Given the description of an element on the screen output the (x, y) to click on. 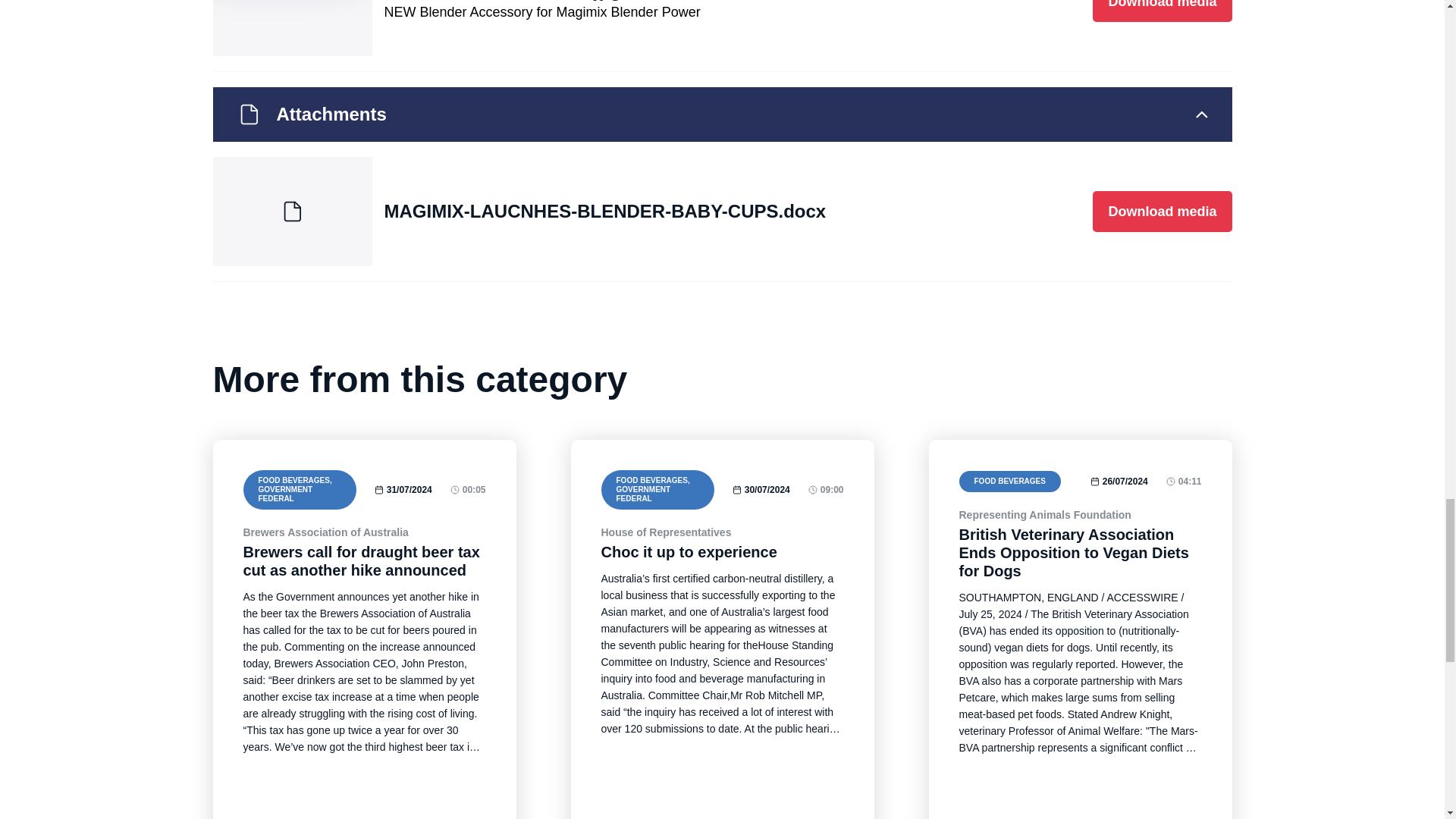
Download media (1162, 11)
Download media (1162, 210)
